Given the description of an element on the screen output the (x, y) to click on. 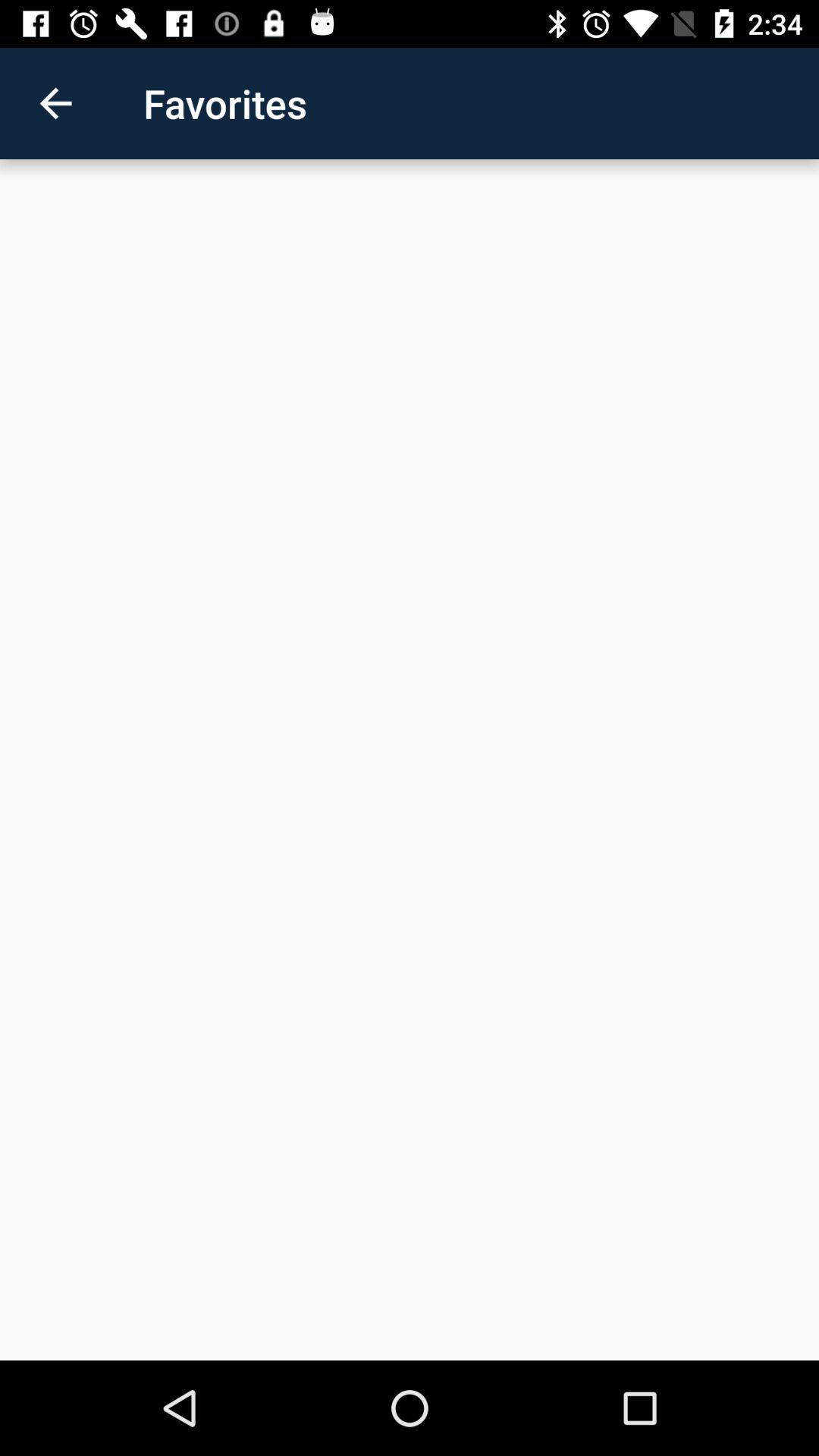
launch the item at the center (409, 759)
